Given the description of an element on the screen output the (x, y) to click on. 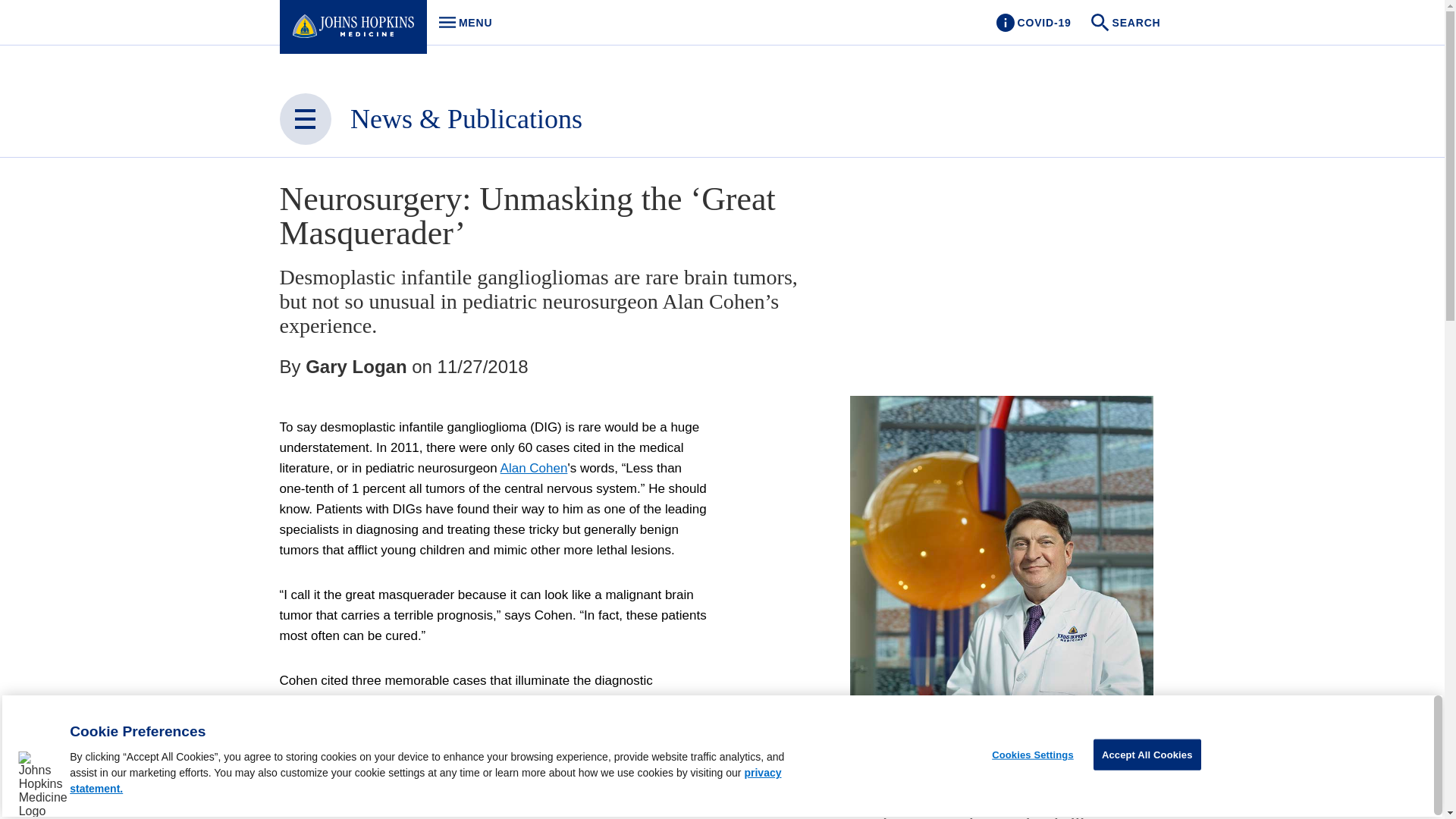
SEARCH (1126, 22)
Close Main Menu (304, 118)
COVID-19 (1033, 22)
Alan Cohen (461, 22)
